Given the description of an element on the screen output the (x, y) to click on. 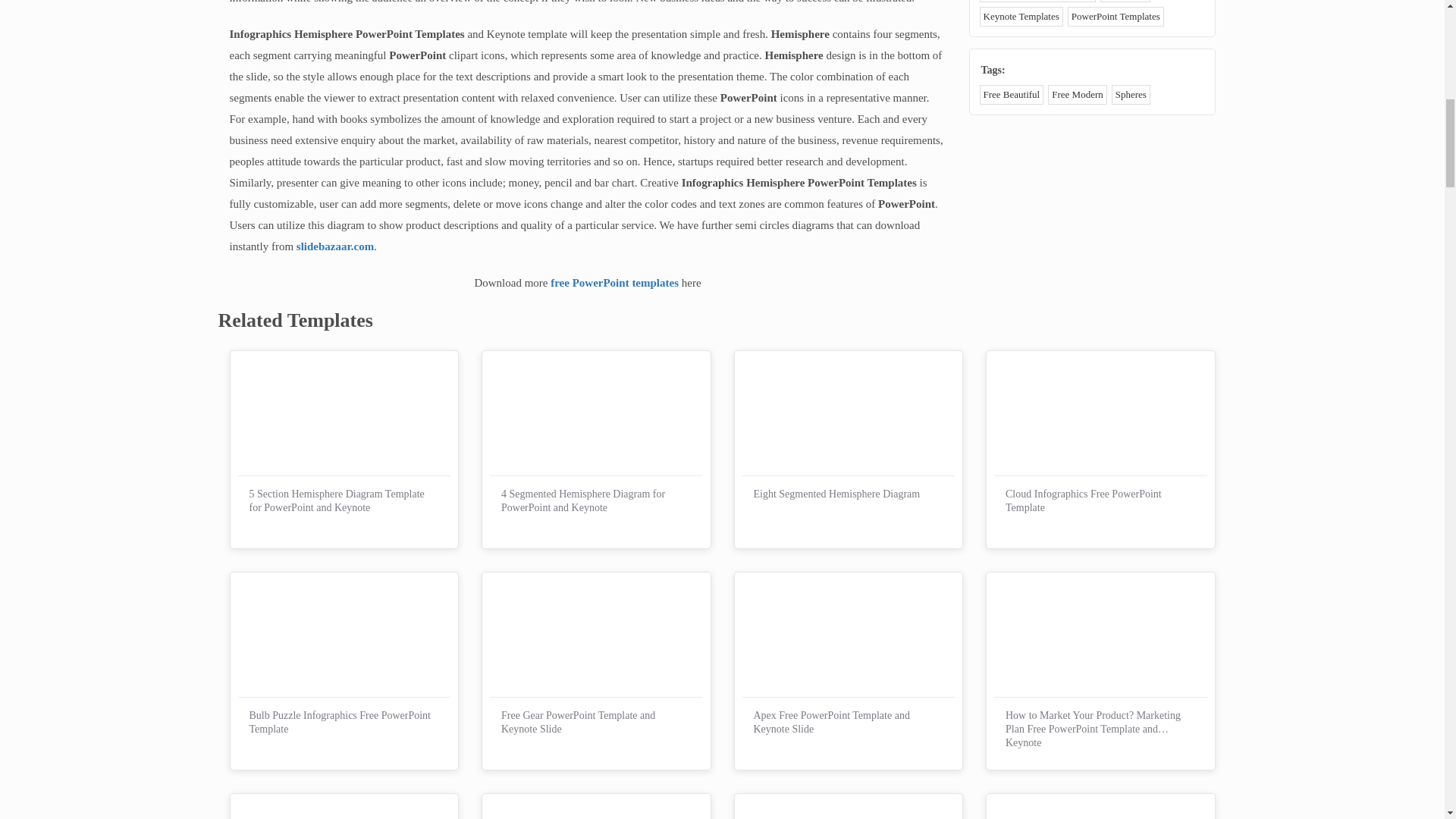
Free Modern (1077, 94)
Free PowerPoint Templates (1037, 0)
PowerPoint Templates (1115, 16)
Free slides (1125, 0)
Keynote Templates (1020, 16)
free PowerPoint templates (614, 282)
Free Beautiful (1011, 94)
slidebazaar.com (335, 246)
